Given the description of an element on the screen output the (x, y) to click on. 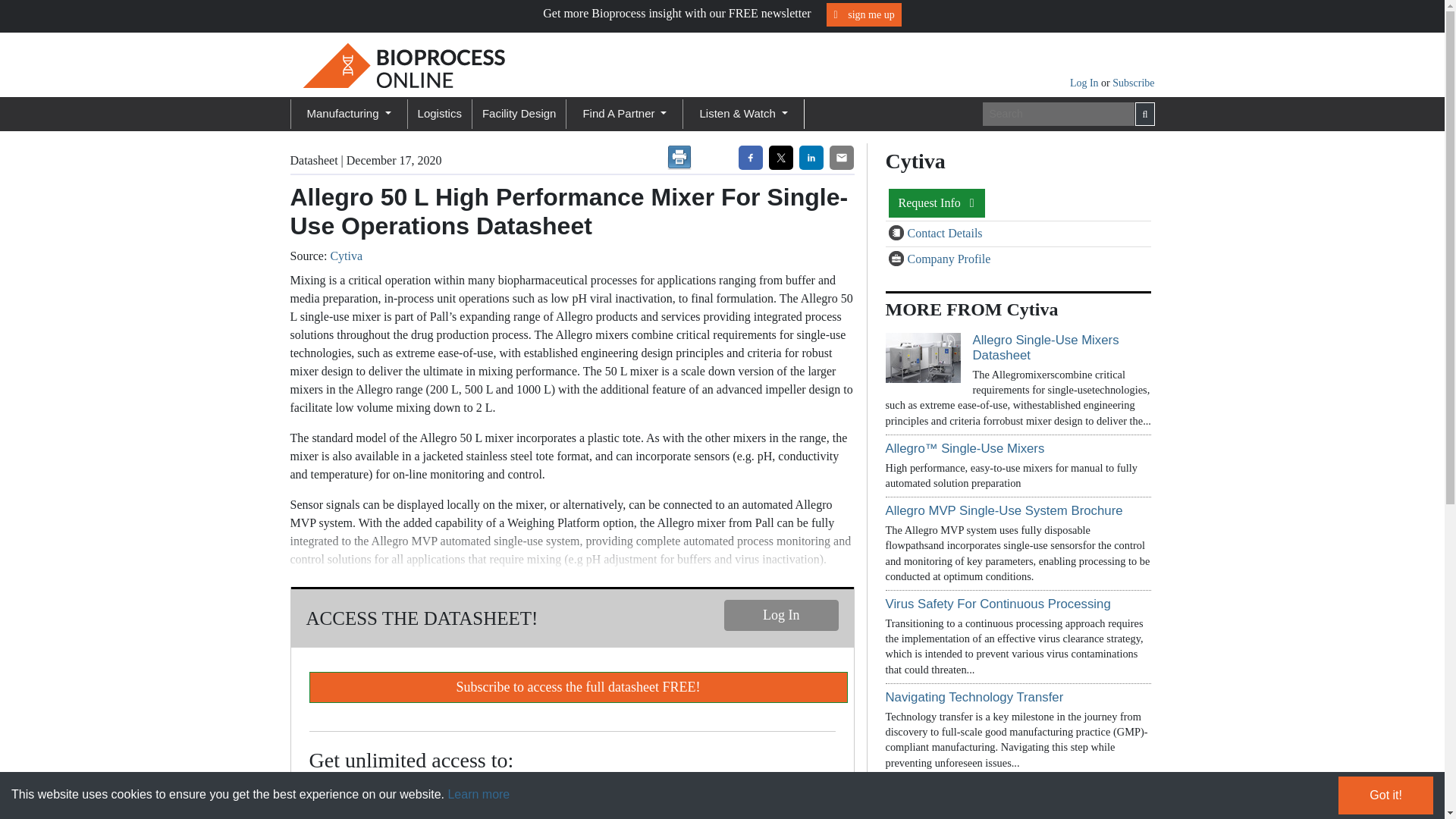
Log In (780, 614)
Facility Design (518, 113)
Manufacturing (347, 113)
Find A Partner (624, 113)
Print (679, 157)
Logistics (439, 113)
Cytiva (346, 255)
Subscribe to access the full datasheet FREE! (577, 686)
Subscribe (1133, 82)
Company Profile (897, 259)
Contact Details (897, 233)
Log In (1085, 82)
sign me up (864, 14)
